Given the description of an element on the screen output the (x, y) to click on. 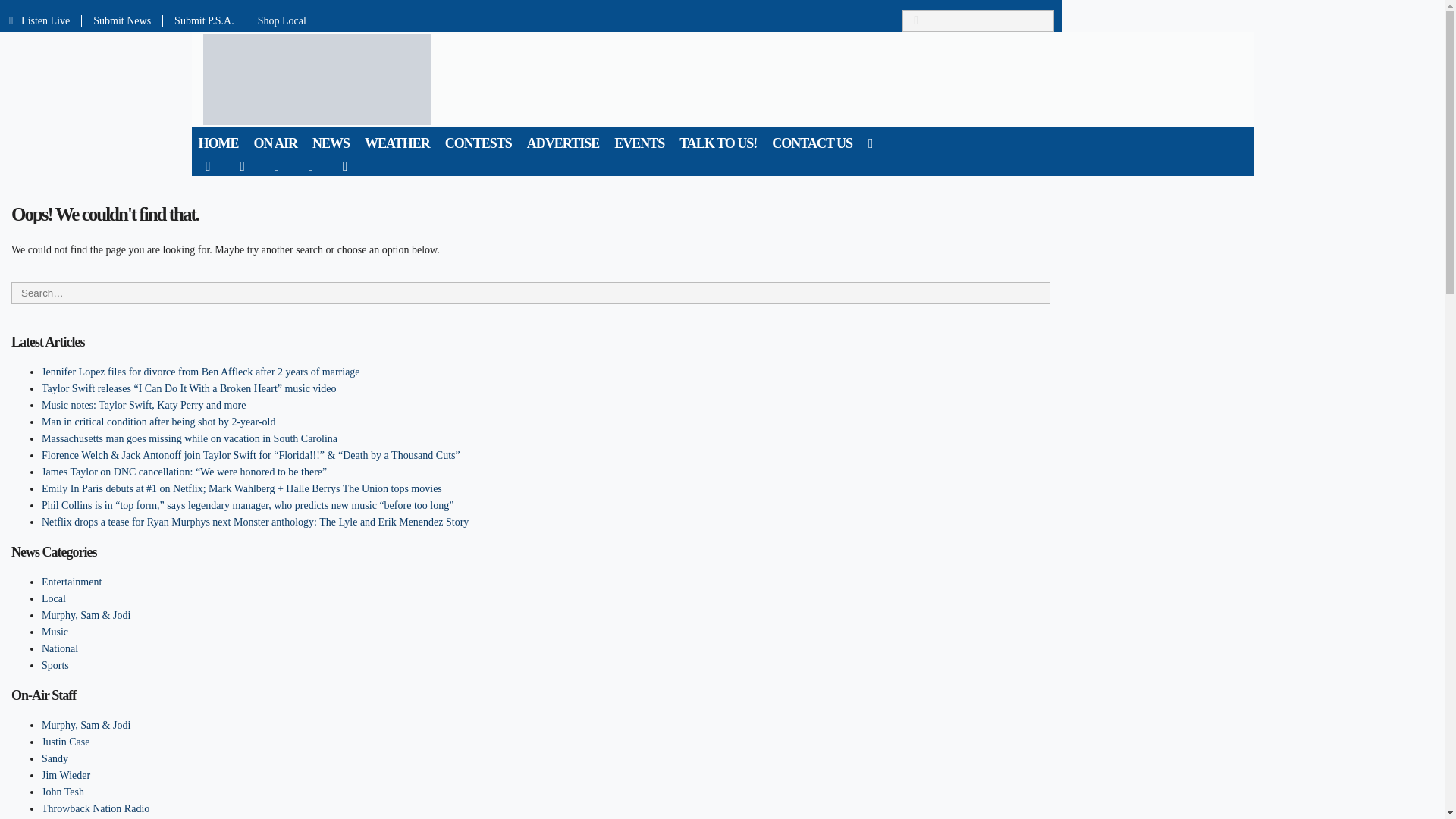
Search for: (978, 20)
Follow us on Facebook (207, 165)
Follow us on X (242, 165)
Follow us on Instagram (277, 165)
Get our iOS App (311, 165)
